Given the description of an element on the screen output the (x, y) to click on. 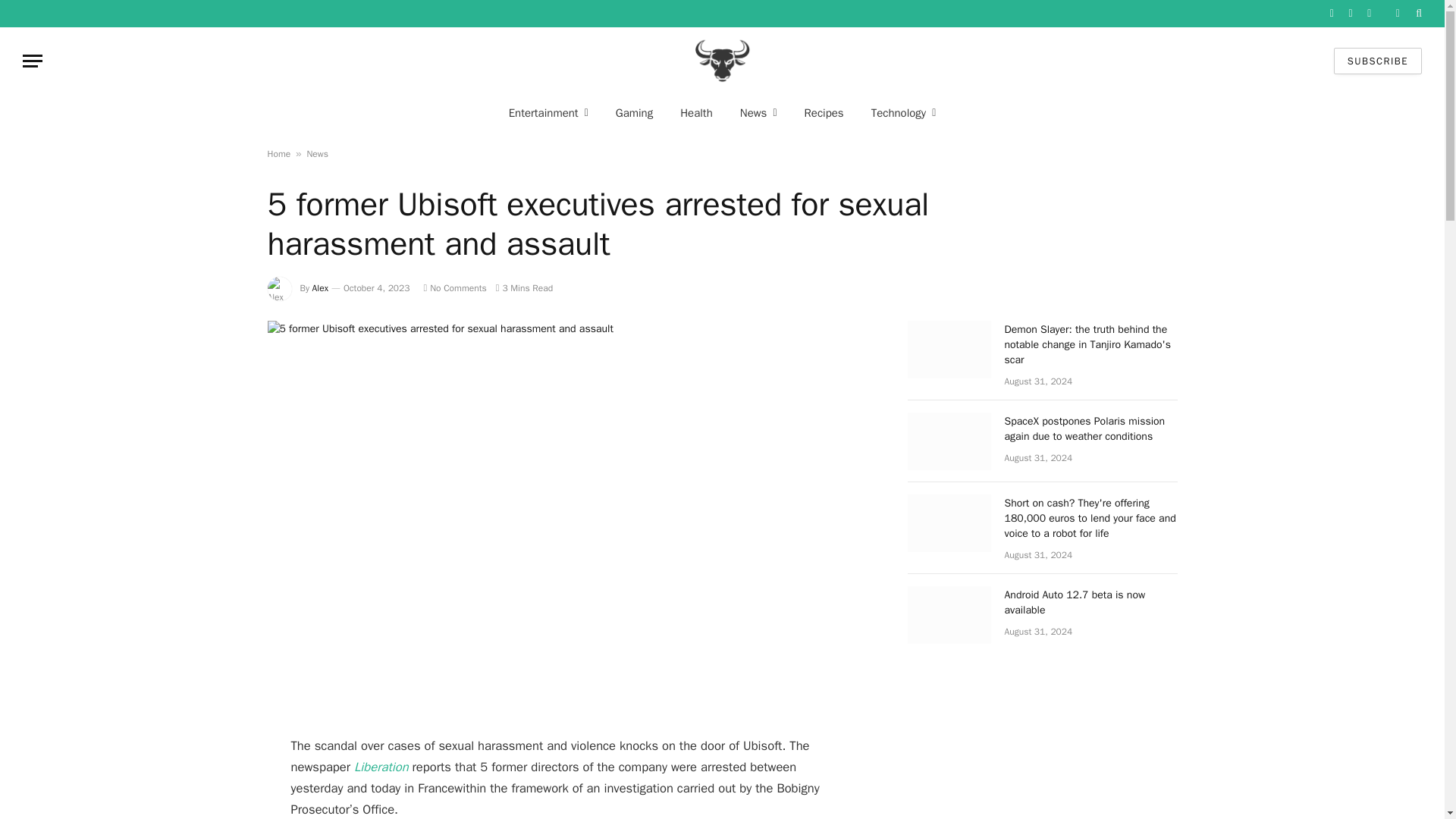
Posts by Alex (321, 287)
Switch to Dark Design - easier on eyes. (1397, 13)
